Given the description of an element on the screen output the (x, y) to click on. 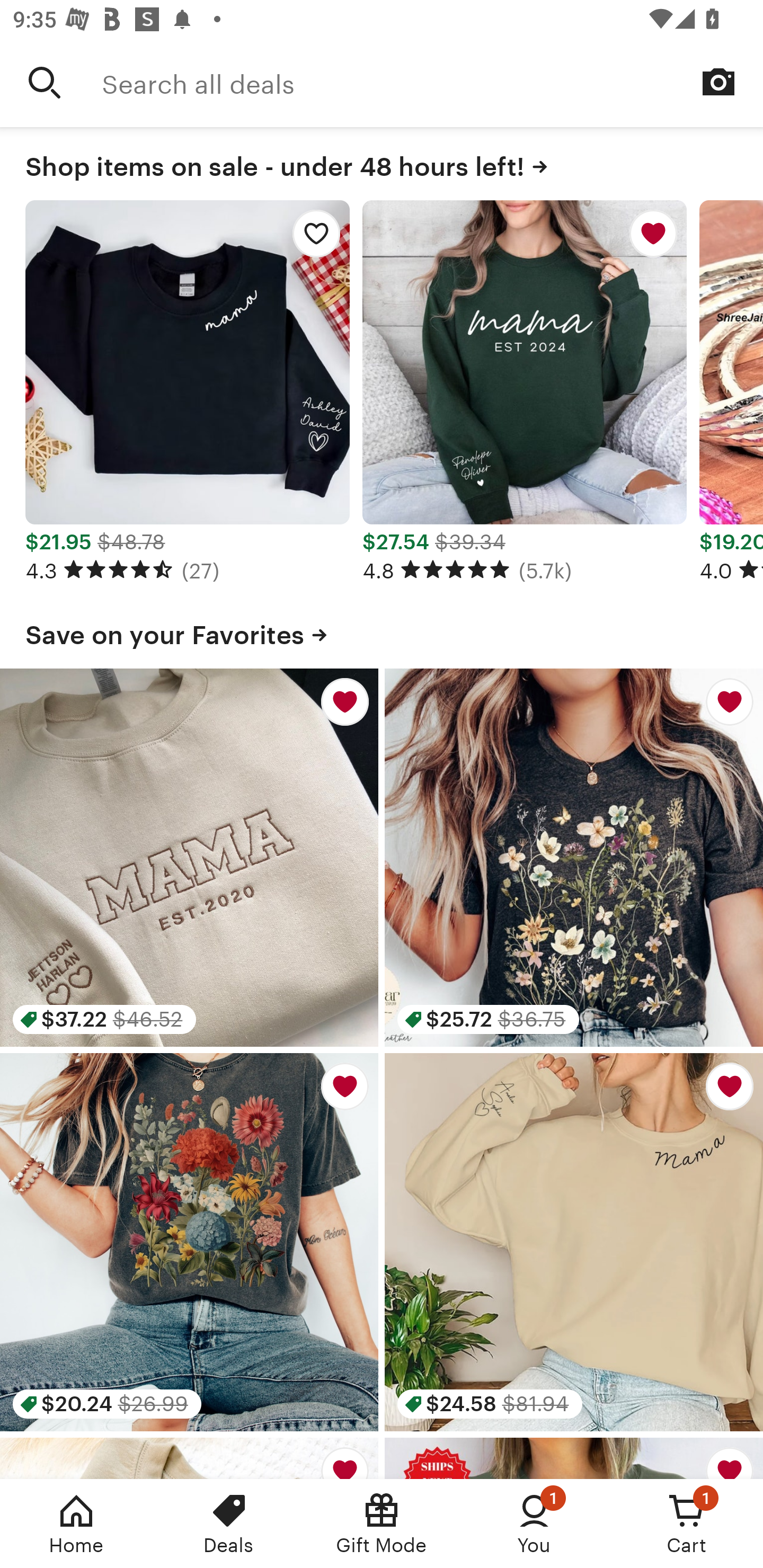
Search for anything on Etsy (44, 82)
Search by image (718, 81)
Search all deals (432, 82)
Shop items on sale - under 48 hours left! (381, 163)
Save on your Favorites (381, 631)
Home (76, 1523)
Gift Mode (381, 1523)
You, 1 new notification You (533, 1523)
Cart, 1 new notification Cart (686, 1523)
